Given the description of an element on the screen output the (x, y) to click on. 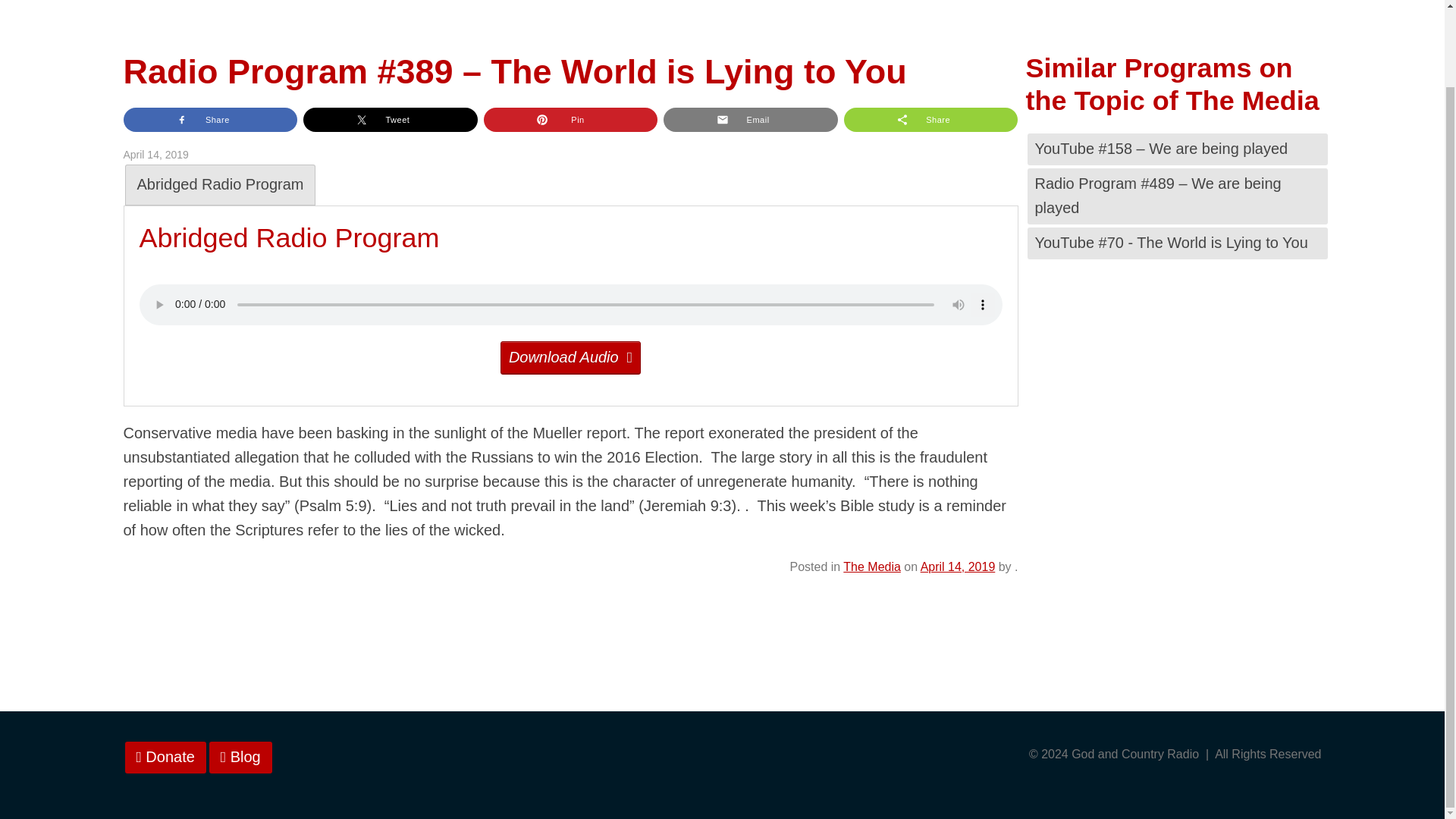
Blog (240, 757)
The Media (872, 566)
Abridged Radio Program (219, 184)
April 14, 2019 (957, 566)
Donate (164, 757)
Download Audio   (570, 357)
10:30 am (957, 566)
